Given the description of an element on the screen output the (x, y) to click on. 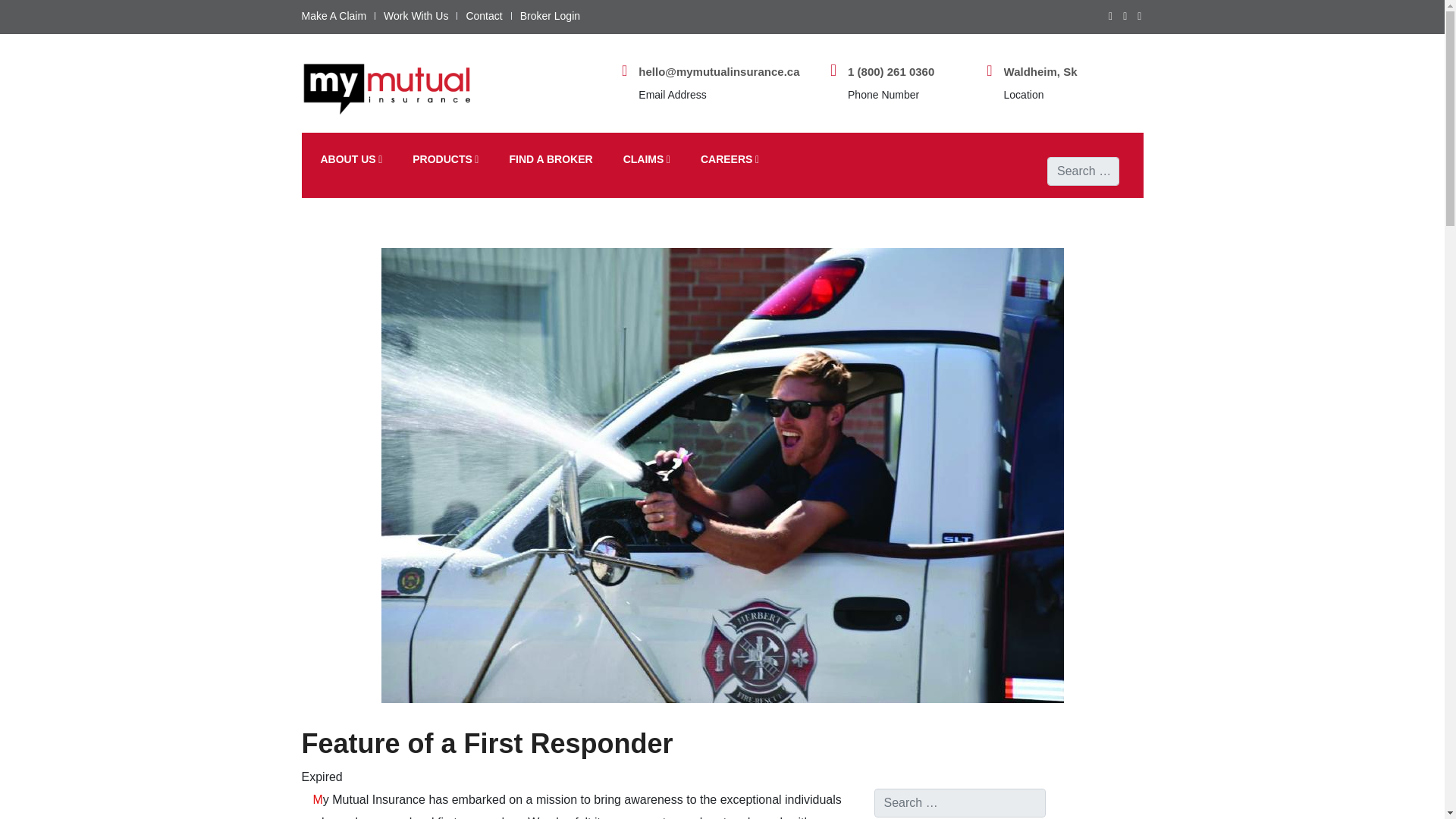
FIND A BROKER (550, 158)
Make A Claim (333, 15)
Work With Us (416, 15)
CLAIMS (646, 159)
CAREERS (729, 159)
Contact (483, 15)
ABOUT US (351, 159)
Broker Login (549, 15)
PRODUCTS (445, 159)
